Given the description of an element on the screen output the (x, y) to click on. 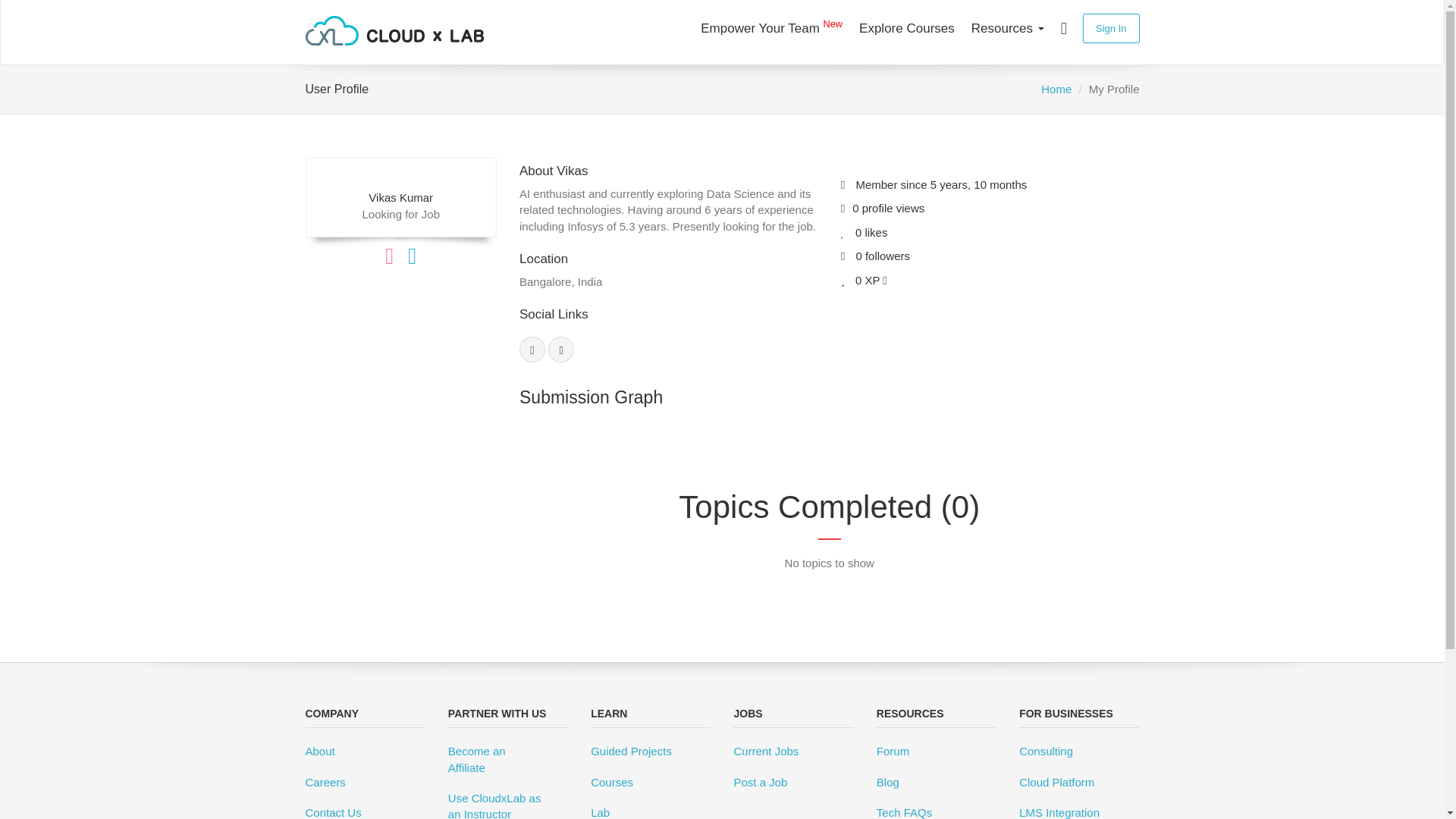
Explore Courses (906, 28)
Careers (364, 785)
Empower Your Team New (771, 28)
Contact Us (364, 811)
Sign In (1110, 28)
Resources (1007, 28)
Home (1056, 88)
Like (396, 259)
About (364, 754)
